Given the description of an element on the screen output the (x, y) to click on. 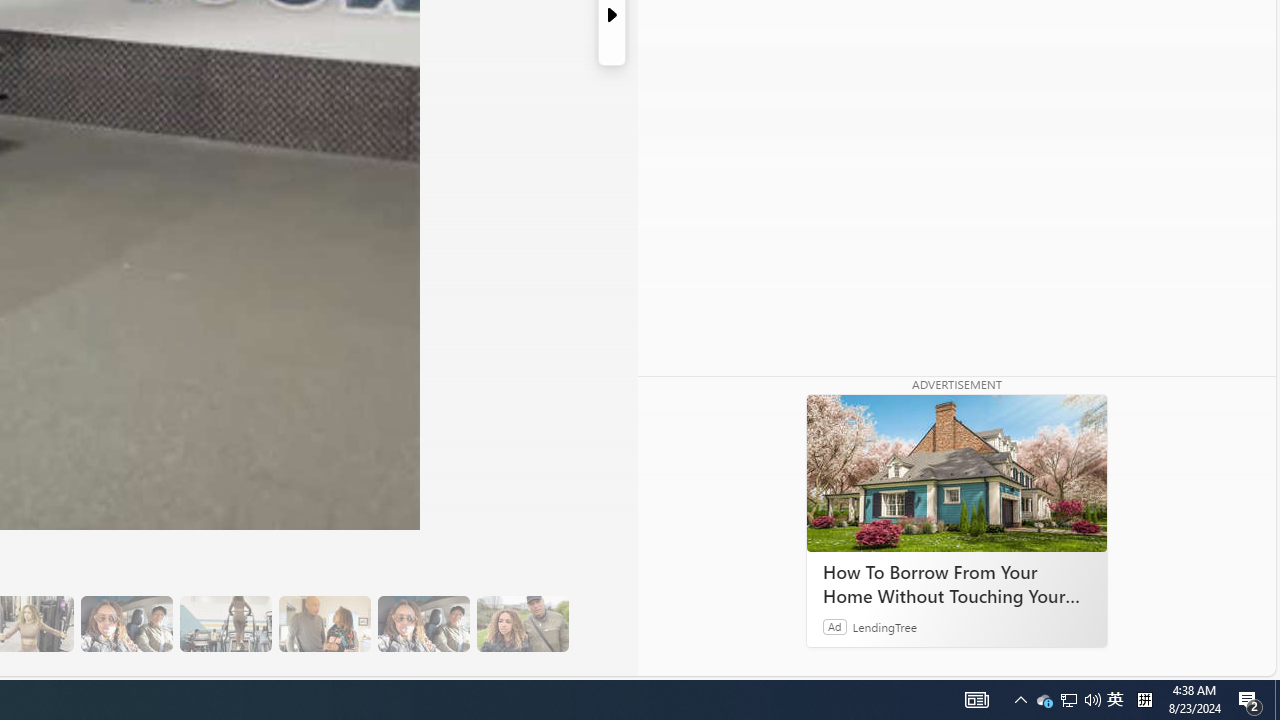
20 Overall, It Will Improve Your Health (522, 624)
